Given the description of an element on the screen output the (x, y) to click on. 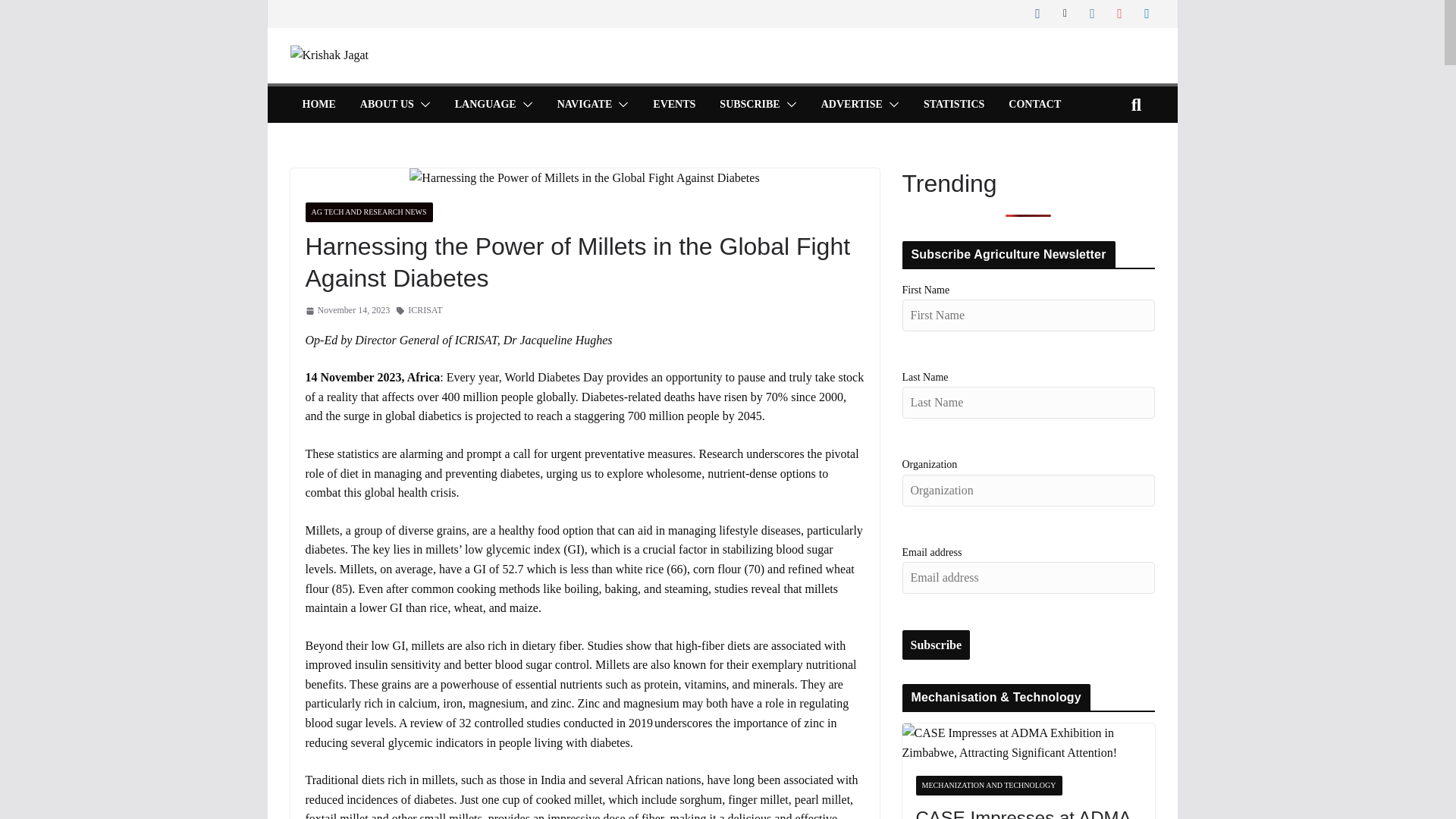
NAVIGATE (584, 104)
Subscribe (936, 644)
HOME (317, 104)
SUBSCRIBE (748, 104)
ABOUT US (386, 104)
3:45 pm (347, 310)
LANGUAGE (485, 104)
ADVERTISE (851, 104)
EVENTS (673, 104)
